Given the description of an element on the screen output the (x, y) to click on. 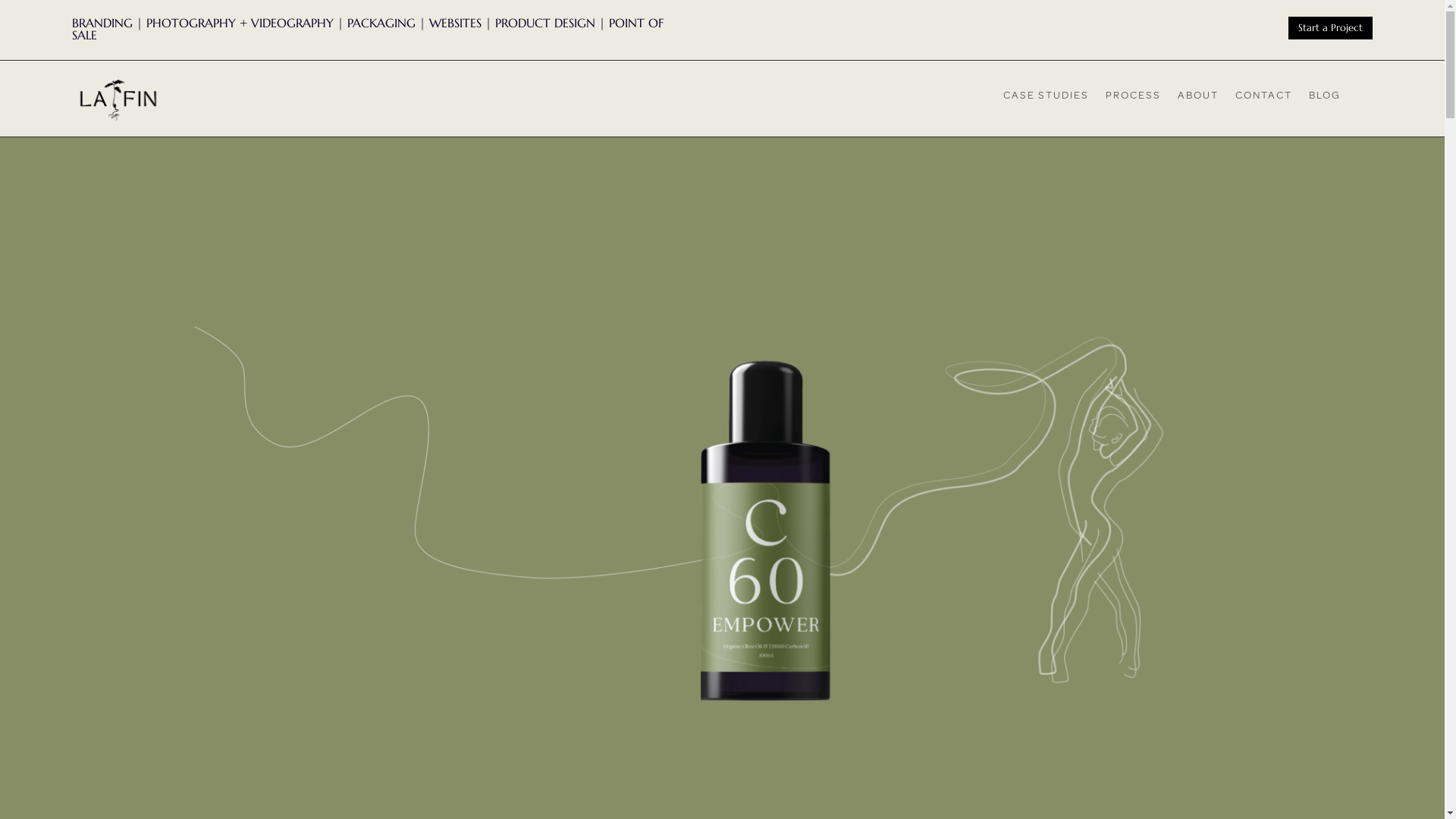
Start a Project Element type: text (1330, 27)
CONTACT Element type: text (1263, 99)
LA FIN LOGO-02 Element type: hover (118, 99)
CASE STUDIES Element type: text (1045, 99)
ABOUT Element type: text (1197, 99)
PROCESS Element type: text (1133, 99)
BLOG Element type: text (1324, 99)
